Given the description of an element on the screen output the (x, y) to click on. 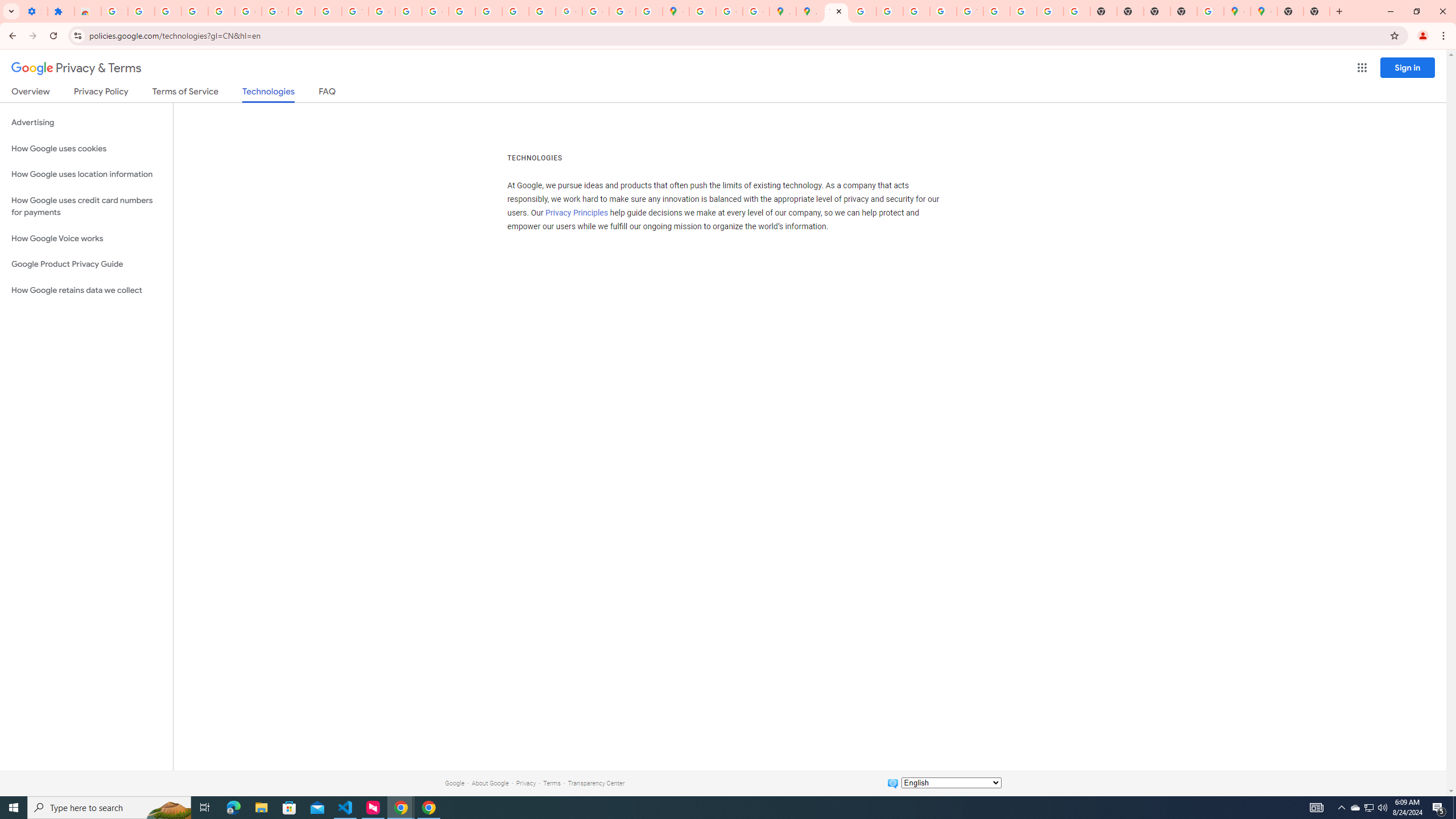
Google Account Help (248, 11)
New Tab (1316, 11)
New Tab (1290, 11)
Technologies (268, 94)
YouTube (970, 11)
Minimize (1390, 11)
Sign in (1407, 67)
How Google retains data we collect (86, 289)
You (1422, 35)
